Given the description of an element on the screen output the (x, y) to click on. 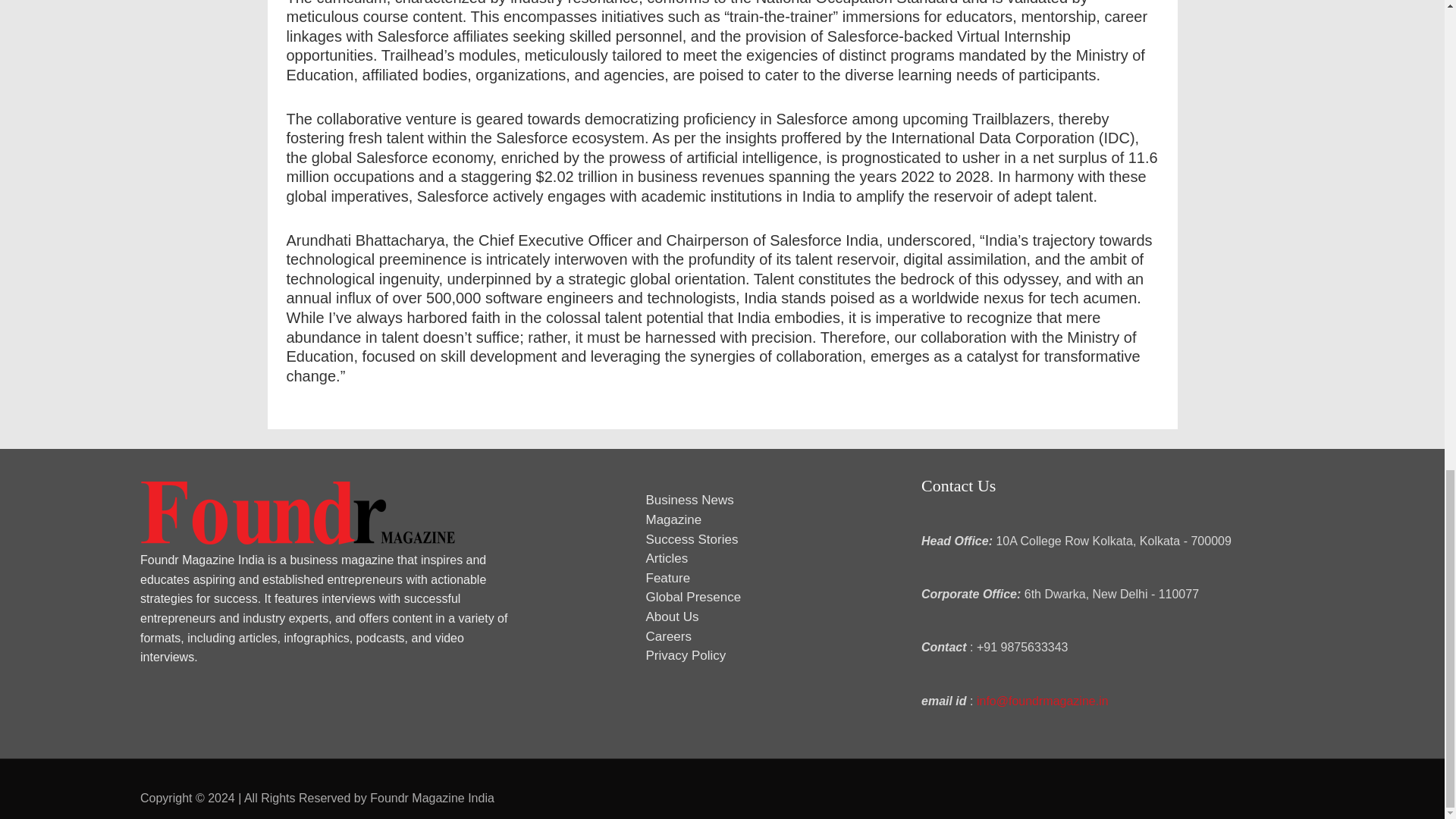
Magazine (673, 519)
Articles (667, 558)
Business News (689, 499)
Success Stories (692, 539)
